Given the description of an element on the screen output the (x, y) to click on. 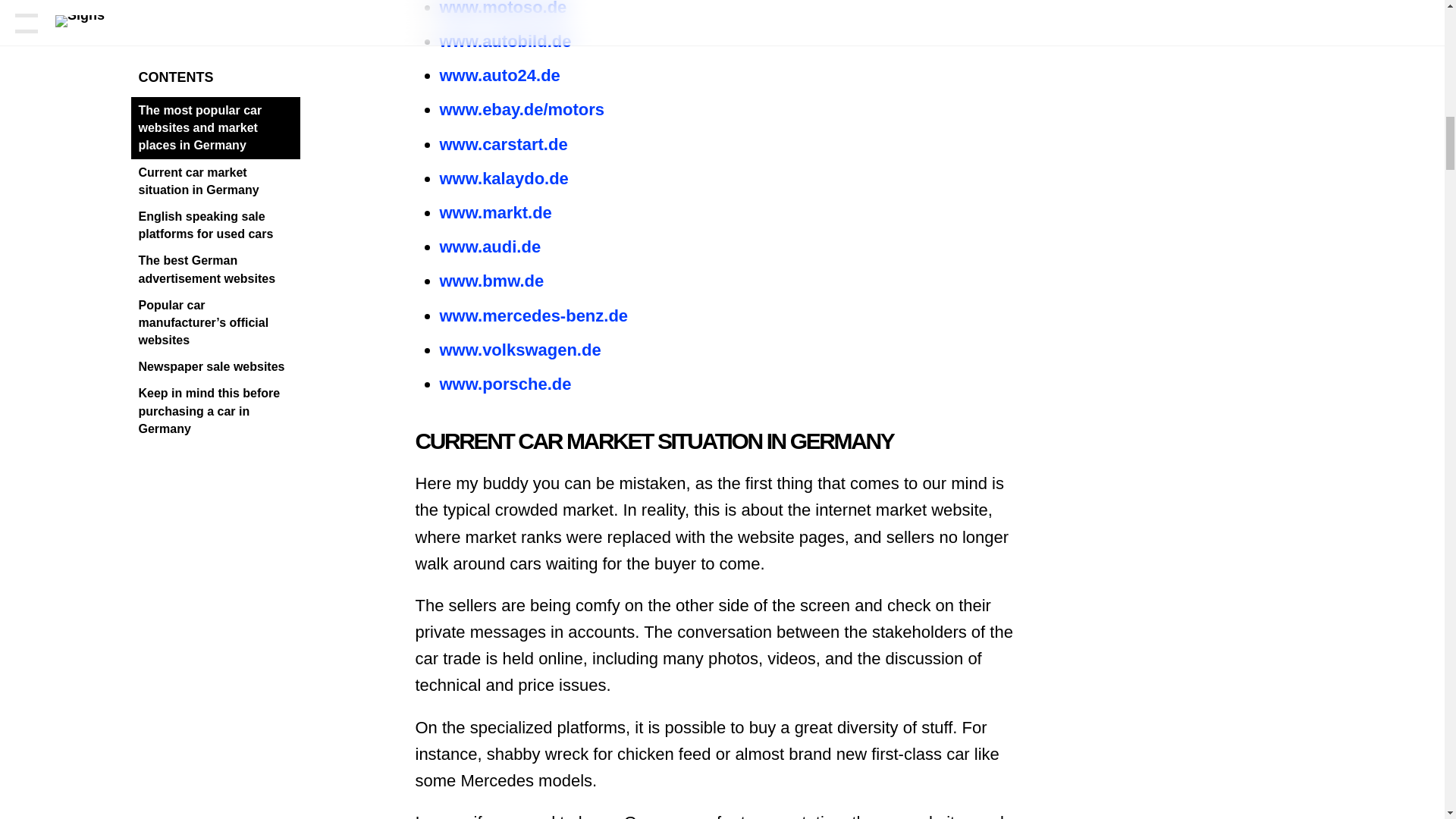
www.auto24.de (499, 75)
www.volkswagen.de (520, 349)
www.autobild.de (505, 40)
www.mercedes-benz.de (533, 315)
www.porsche.de (505, 383)
www.bmw.de (491, 280)
www.markt.de (495, 212)
www.kalaydo.de (504, 178)
www.carstart.de (503, 144)
www.motoso.de (503, 8)
